Given the description of an element on the screen output the (x, y) to click on. 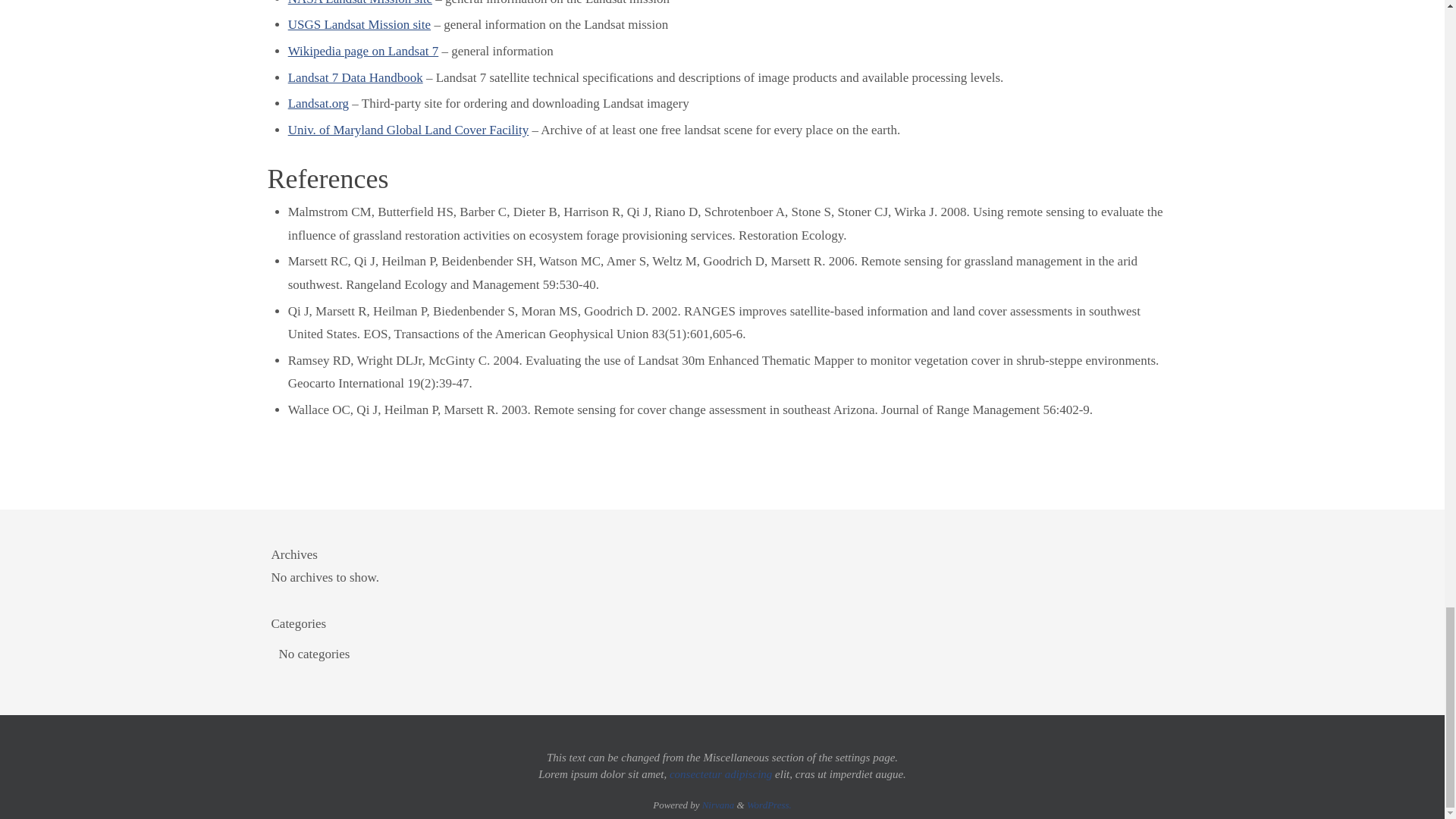
Nirvana Theme by Cryout Creations (718, 804)
Semantic Personal Publishing Platform (769, 804)
